Given the description of an element on the screen output the (x, y) to click on. 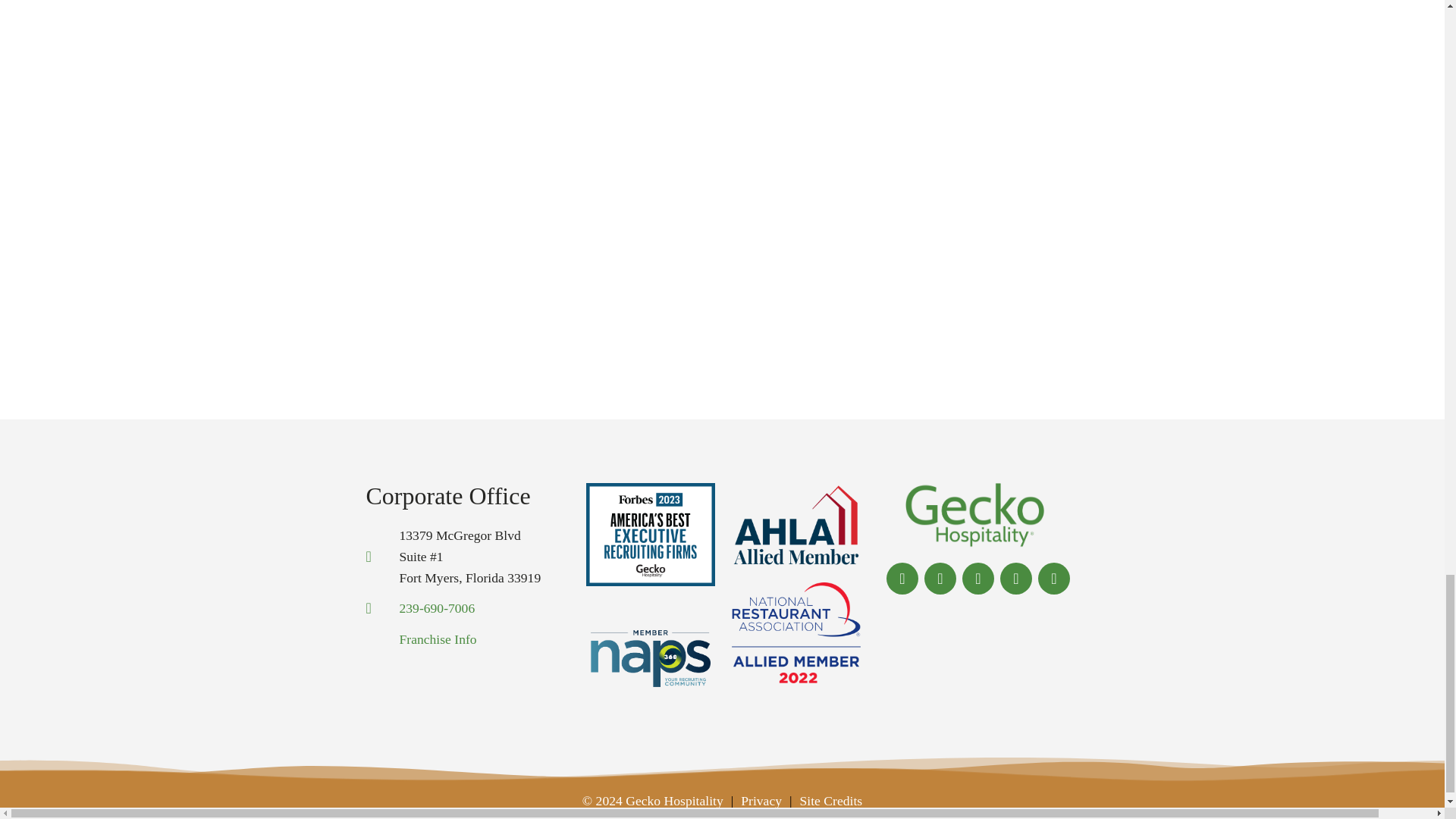
Follow Gecko Hospitality on Facebook (902, 578)
Follow Gecko Hospitality on Facebook (902, 579)
Follow Gecko Hospitality on Twitter (940, 578)
Subscribe to Gecko Hospitality on YouTube (1054, 578)
Connect with Gecko Hospitality on LinkedIn (978, 578)
Connect with Gecko Hospitality on LinkedIn (978, 579)
Subscribe to Gecko Hospitality on YouTube (1054, 579)
Follow Gecko Hospitality on Twitter (940, 579)
